Given the description of an element on the screen output the (x, y) to click on. 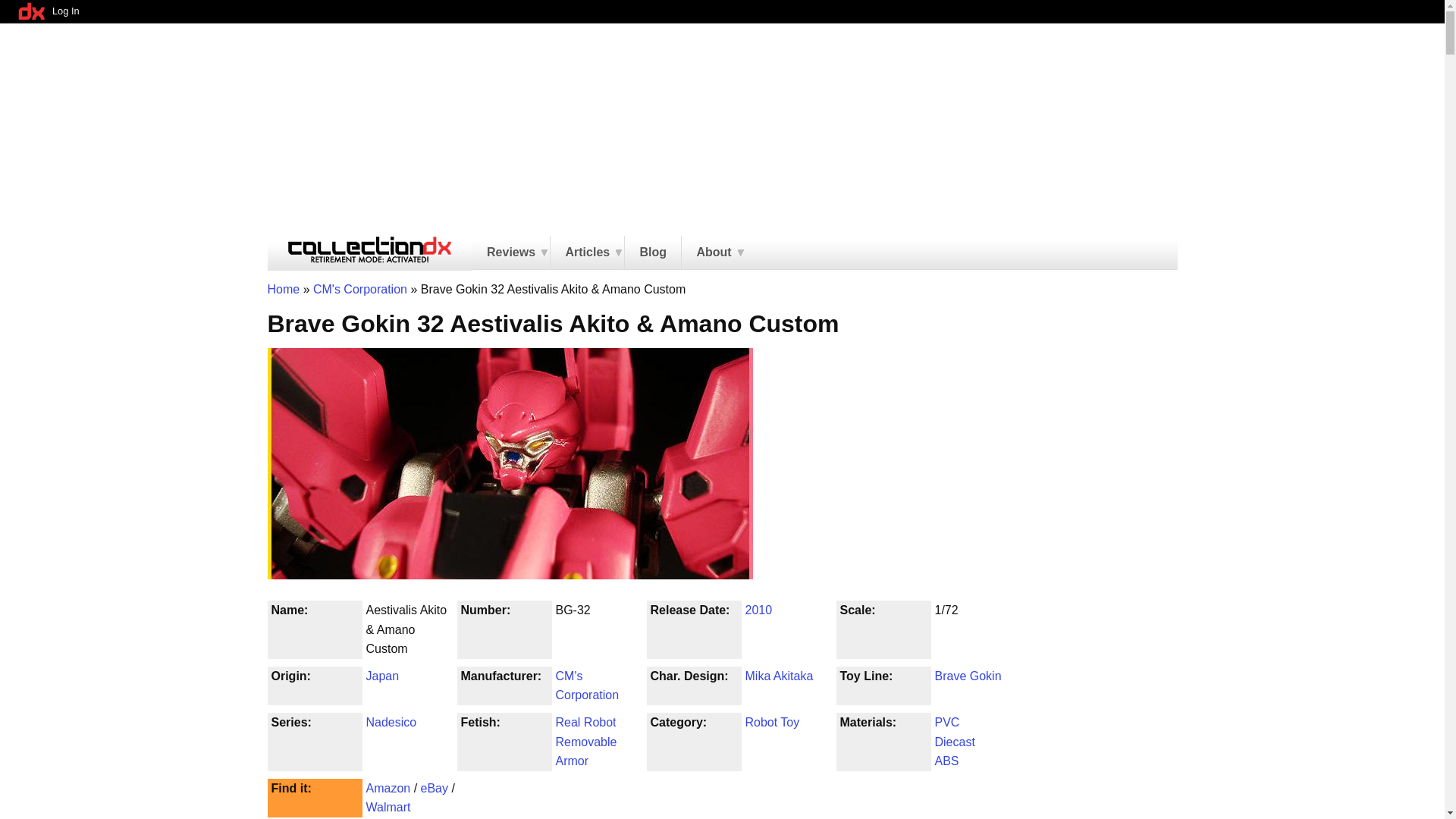
Japan (381, 675)
Reviews (510, 252)
Brave Gokin (967, 675)
Log In (65, 11)
Articles (587, 252)
About (713, 252)
Mika Akitaka (778, 675)
2010 (757, 609)
Blog (652, 252)
Articles (587, 252)
Home (282, 288)
Toy Reviews (510, 252)
CM's Corporation (360, 288)
CM's Corporation (586, 685)
